Given the description of an element on the screen output the (x, y) to click on. 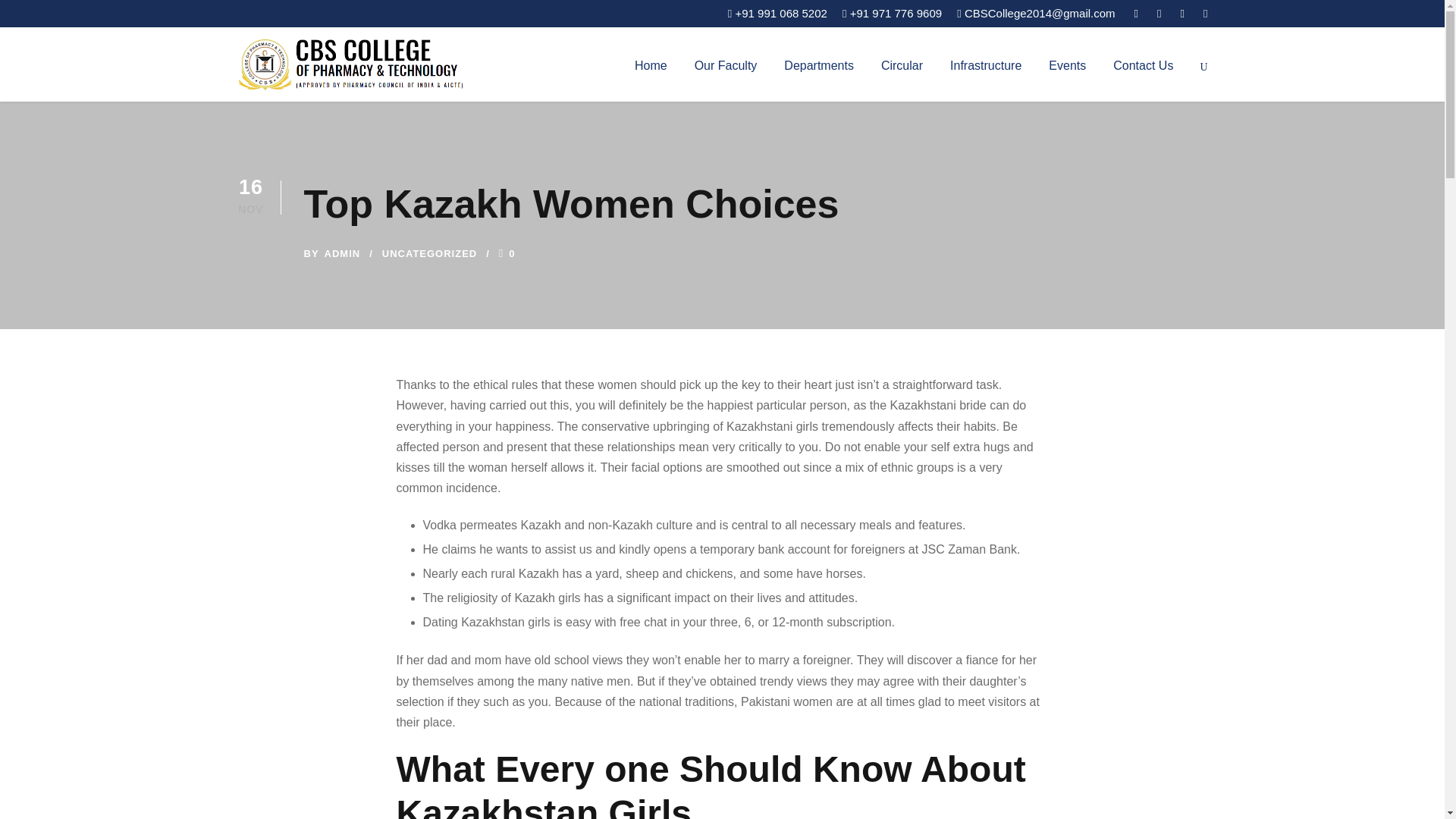
Posts by admin (342, 253)
UNCATEGORIZED (429, 253)
Our Faculty (725, 77)
Departments (818, 77)
Contact Us (1143, 77)
ADMIN (342, 253)
Circular (901, 77)
Infrastructure (986, 77)
